Given the description of an element on the screen output the (x, y) to click on. 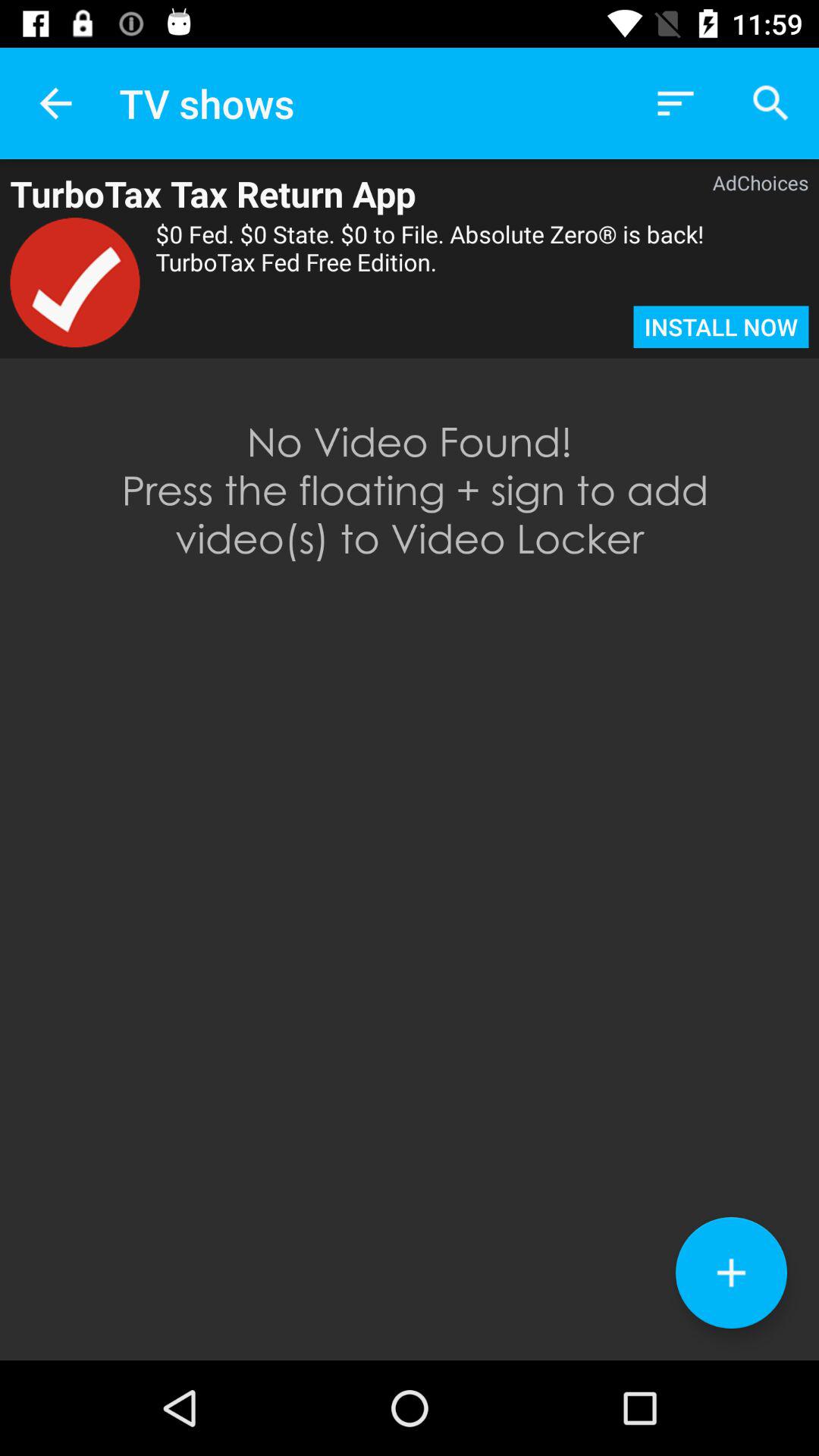
scroll to the 0 fed 0 (481, 261)
